Given the description of an element on the screen output the (x, y) to click on. 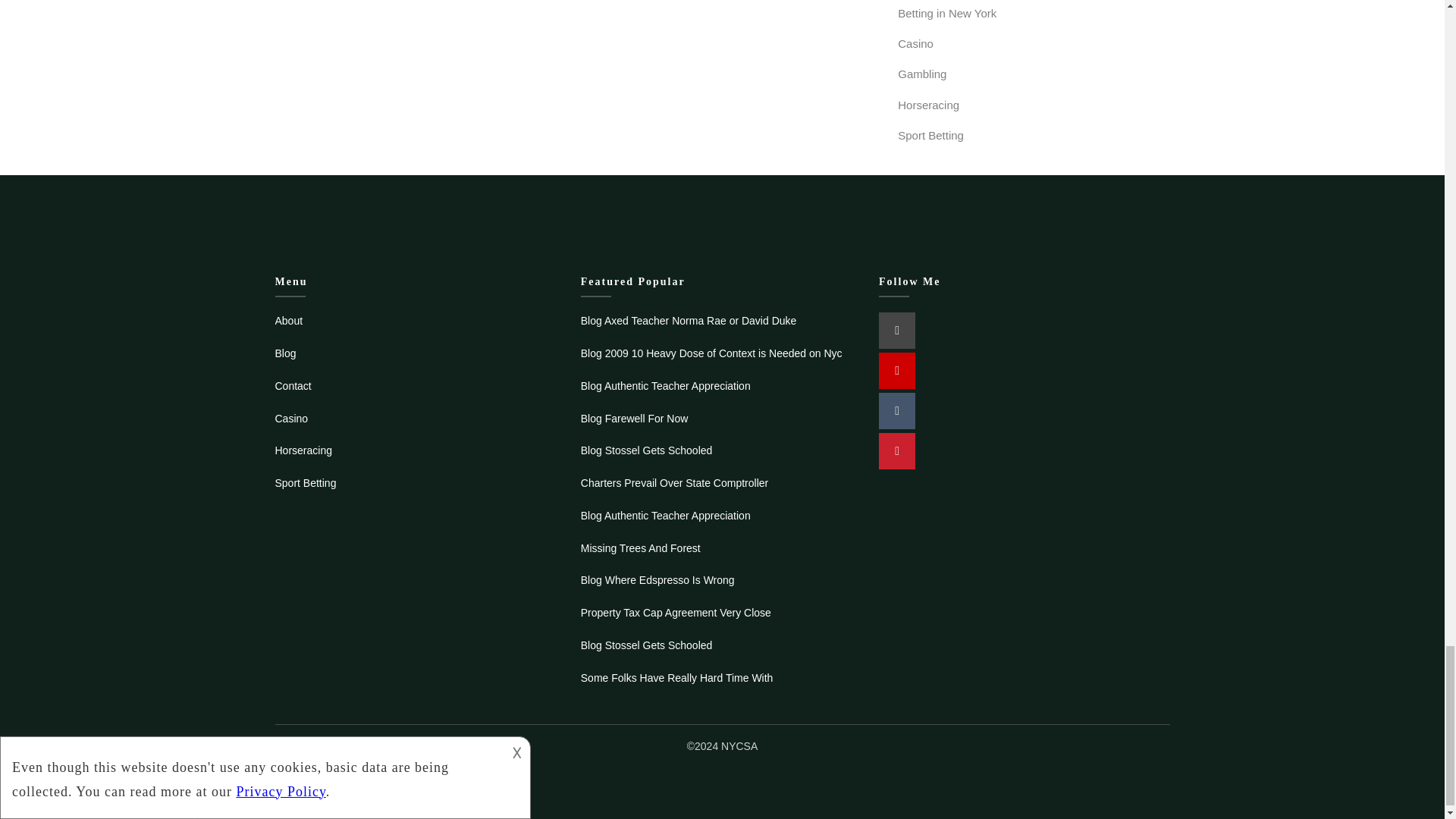
Ask (897, 370)
WordPress (897, 330)
Quora (897, 451)
tumblr (897, 411)
